Given the description of an element on the screen output the (x, y) to click on. 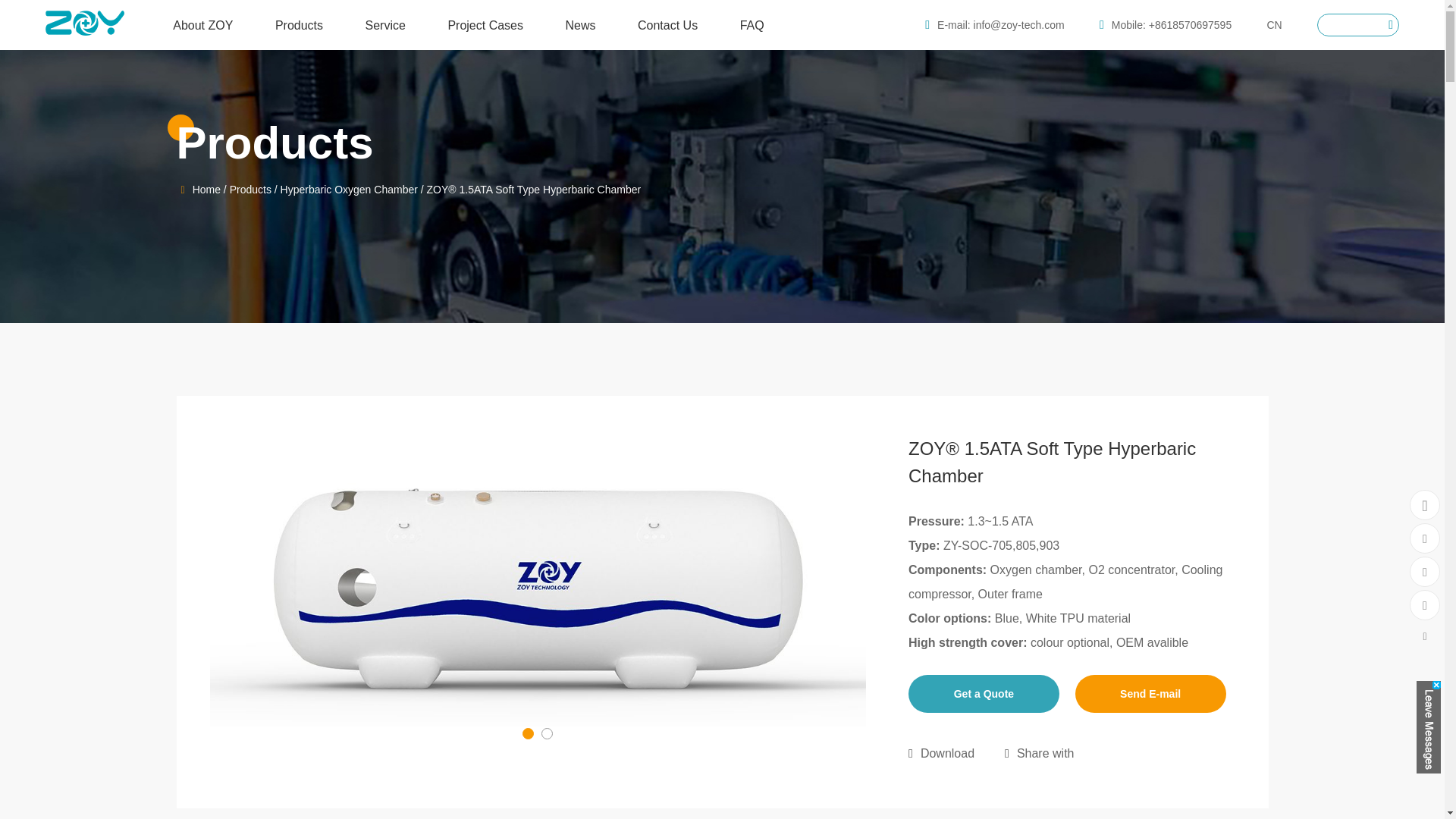
Project Cases (484, 33)
Products (299, 33)
Home (206, 189)
Products (250, 189)
About ZOY (202, 33)
News (579, 33)
Send E-mail (1150, 693)
CN (1273, 24)
Hunan ZOY Medical Technology Co.,Ltd. (84, 26)
Hyperbaric Oxygen Chamber (349, 189)
Get a Quote (983, 693)
Service (385, 33)
Contact Us (667, 33)
